Given the description of an element on the screen output the (x, y) to click on. 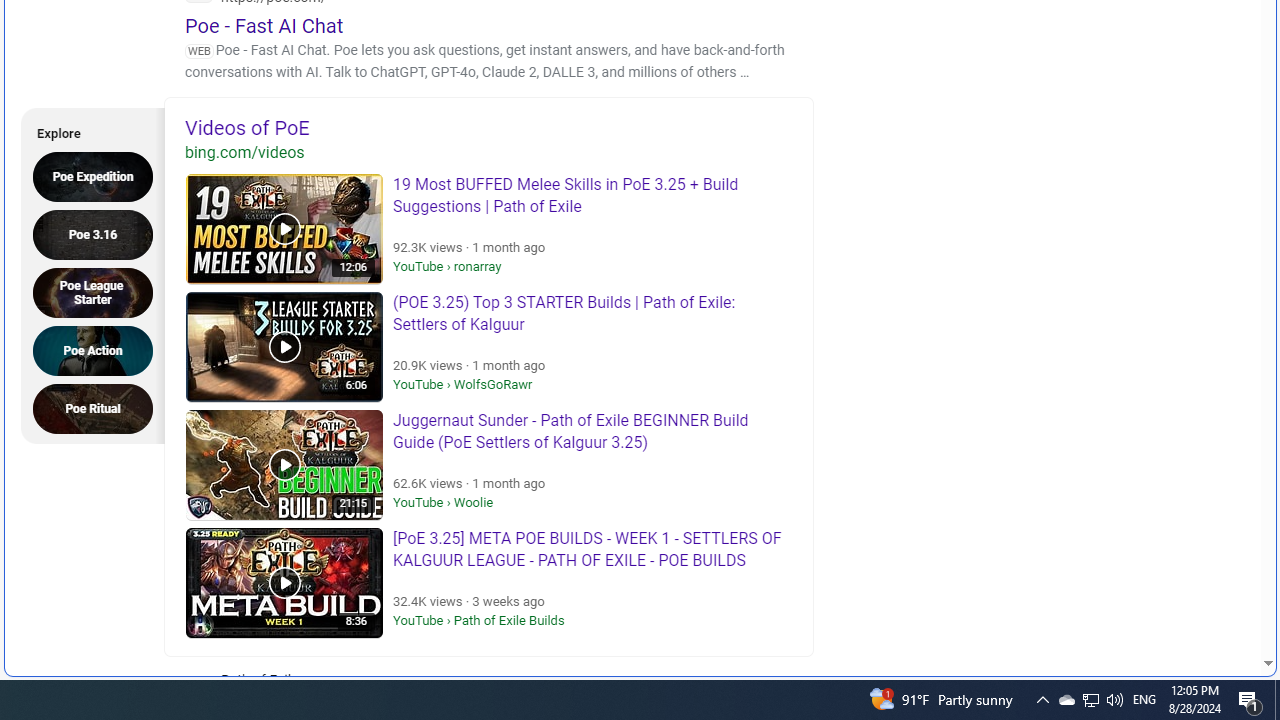
Explore (86, 130)
Poe League Starter (99, 292)
Notification Chevron (1091, 699)
Poe Action (1042, 699)
Path of Exile (99, 349)
Q2790: 100% (324, 692)
